Given the description of an element on the screen output the (x, y) to click on. 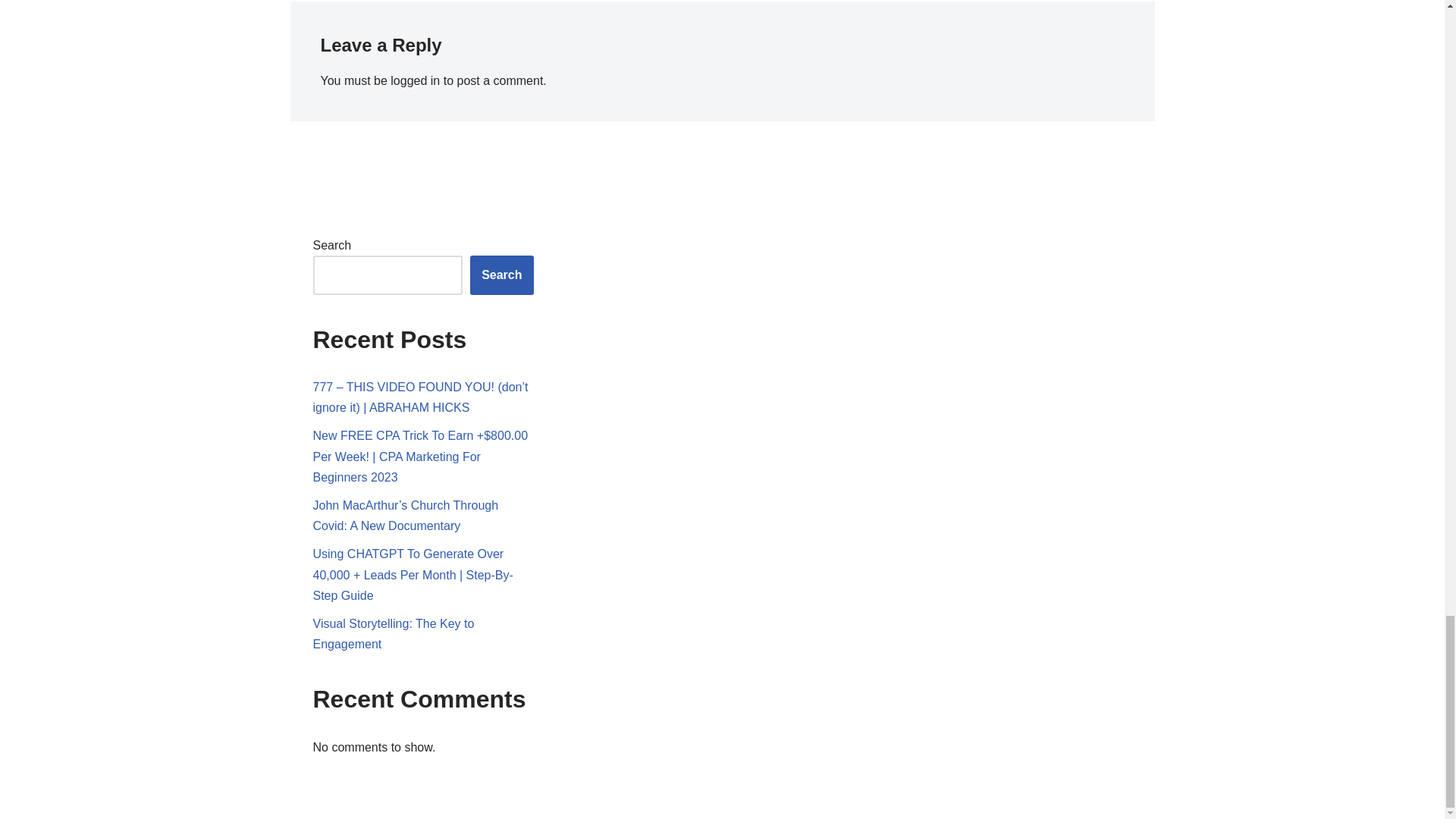
logged in (414, 80)
Search (501, 274)
Visual Storytelling: The Key to Engagement (393, 633)
